Given the description of an element on the screen output the (x, y) to click on. 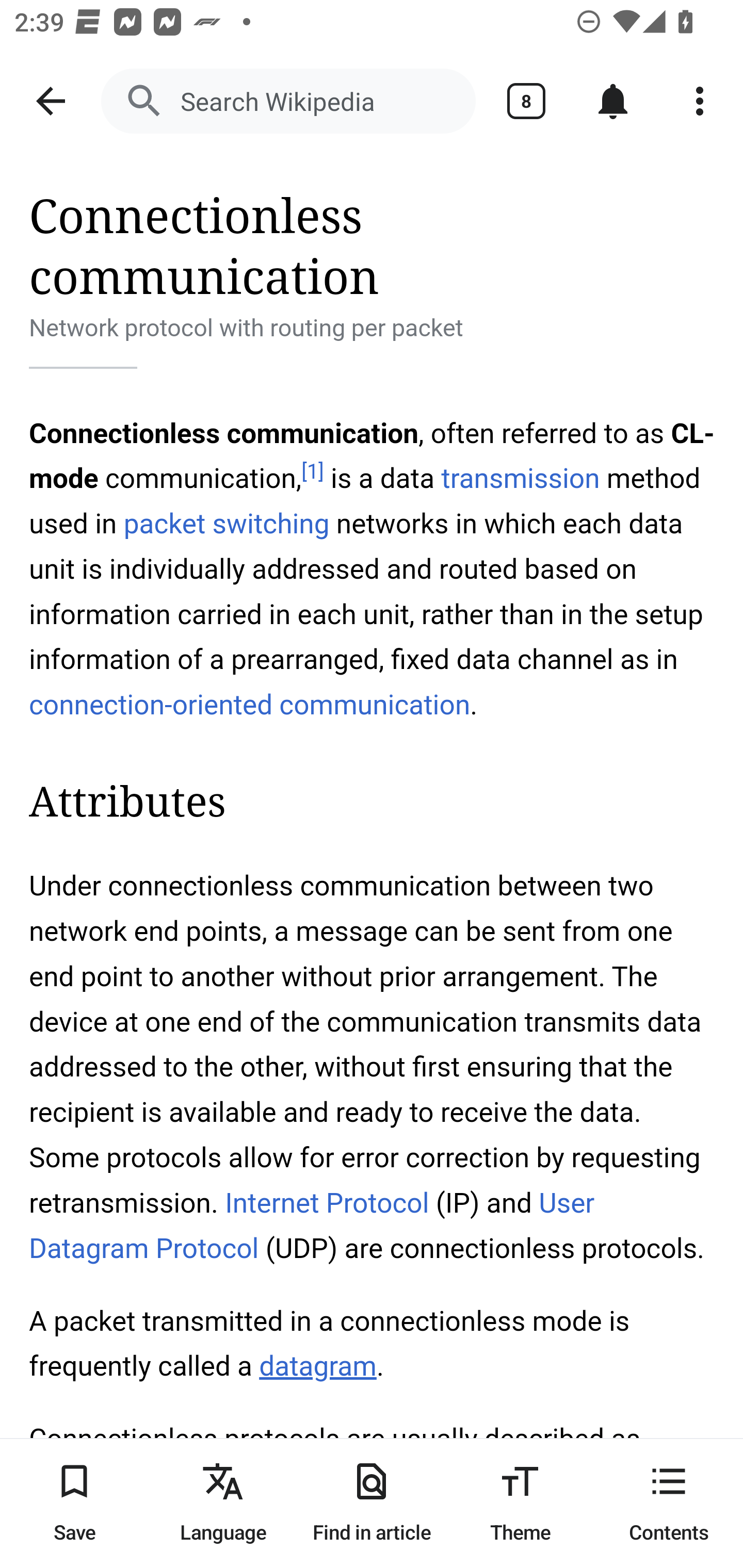
Show tabs 8 (525, 100)
Notifications (612, 100)
Navigate up (50, 101)
More options (699, 101)
Search Wikipedia (288, 100)
[] [ 1 ] (312, 471)
transmission (520, 478)
packet switching (225, 523)
connection-oriented communication (249, 704)
User Datagram Protocol (311, 1225)
Internet Protocol (326, 1202)
datagram (317, 1367)
Save (74, 1502)
Language (222, 1502)
Find in article (371, 1502)
Theme (519, 1502)
Contents (668, 1502)
